Given the description of an element on the screen output the (x, y) to click on. 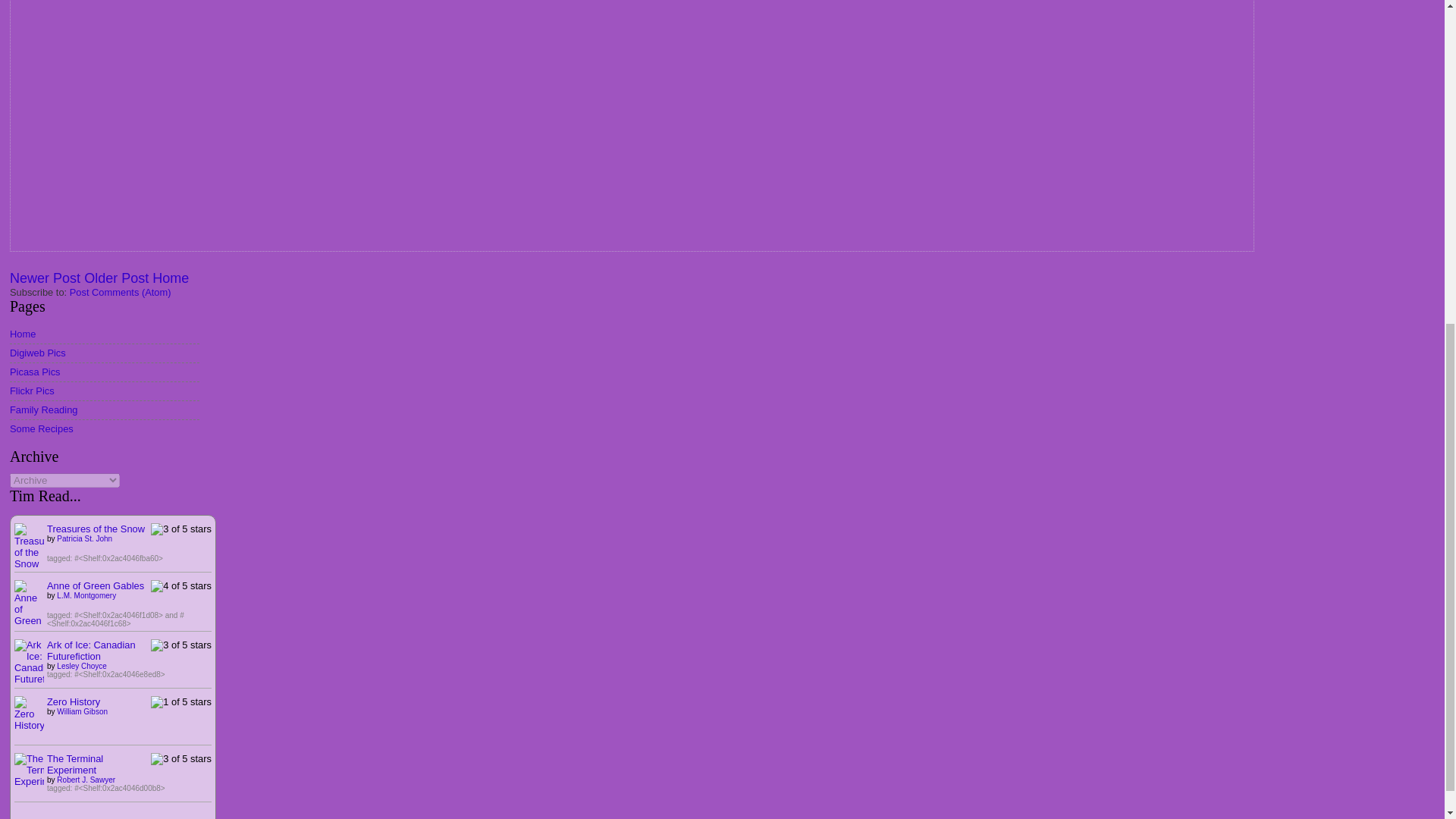
Zero History (73, 701)
3 of 5 stars, liked it (181, 529)
William Gibson (81, 711)
4 of 5 stars, really liked it (181, 585)
Family Reading (43, 409)
Anne of Green Gables (95, 585)
Digiweb Pics (37, 352)
Treasures of the Snow (95, 528)
Newer Post (45, 278)
Older Post (116, 278)
